Given the description of an element on the screen output the (x, y) to click on. 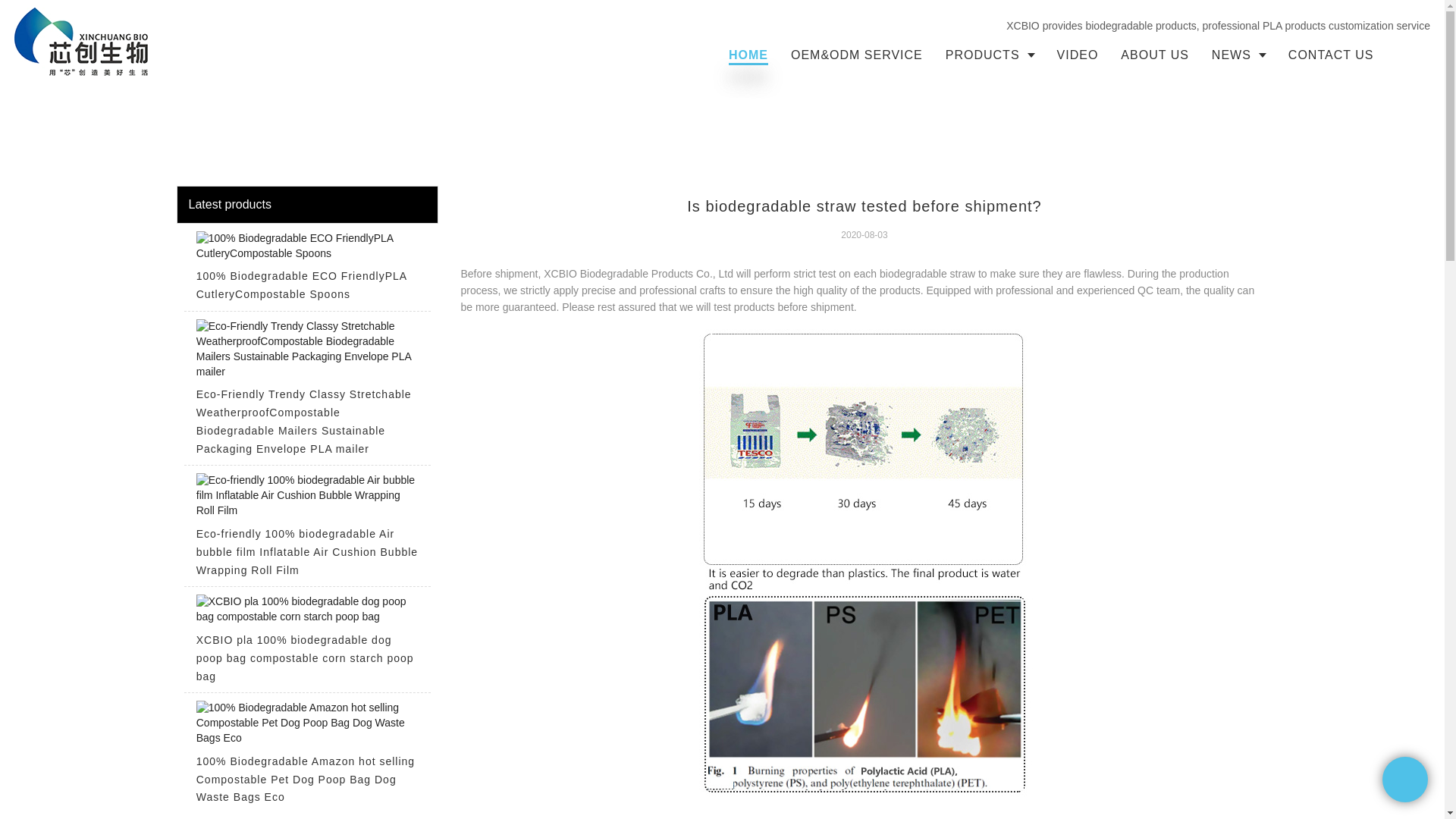
CONTACT US (1331, 55)
VIDEO (1077, 55)
ABOUT US (1154, 55)
PRODUCTS (989, 55)
HOME (747, 55)
NEWS (1237, 55)
